Given the description of an element on the screen output the (x, y) to click on. 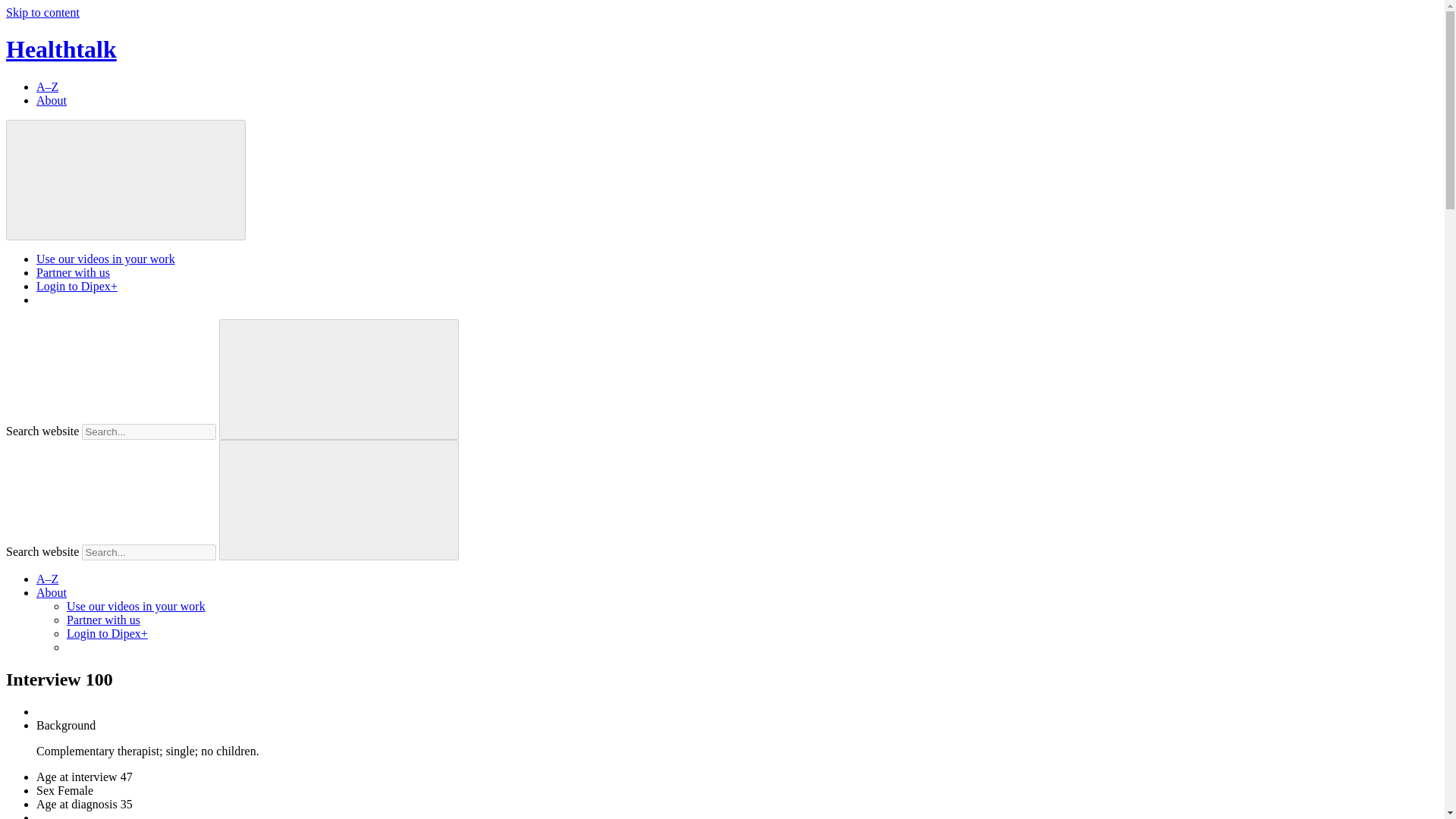
Skip to content (42, 11)
Partner with us (73, 272)
Search submit (338, 499)
About (51, 100)
About (51, 592)
Use our videos in your work (135, 605)
Search submit (338, 379)
Partner with us (102, 619)
Use our videos in your work (105, 258)
